Given the description of an element on the screen output the (x, y) to click on. 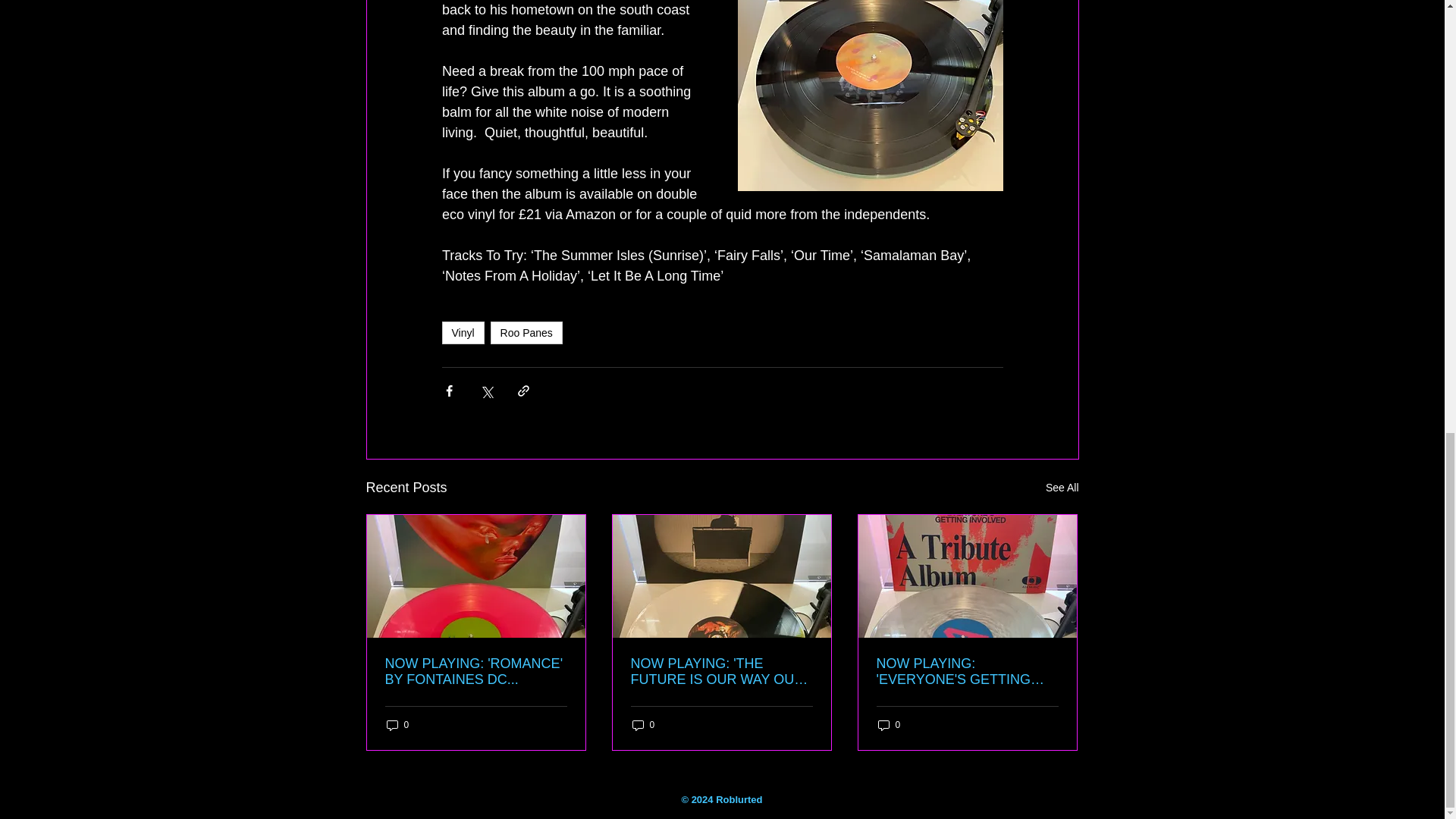
0 (643, 725)
See All (1061, 487)
Roo Panes (526, 332)
NOW PLAYING: 'ROMANCE' BY FONTAINES DC... (476, 671)
0 (889, 725)
0 (397, 725)
Vinyl (462, 332)
